Given the description of an element on the screen output the (x, y) to click on. 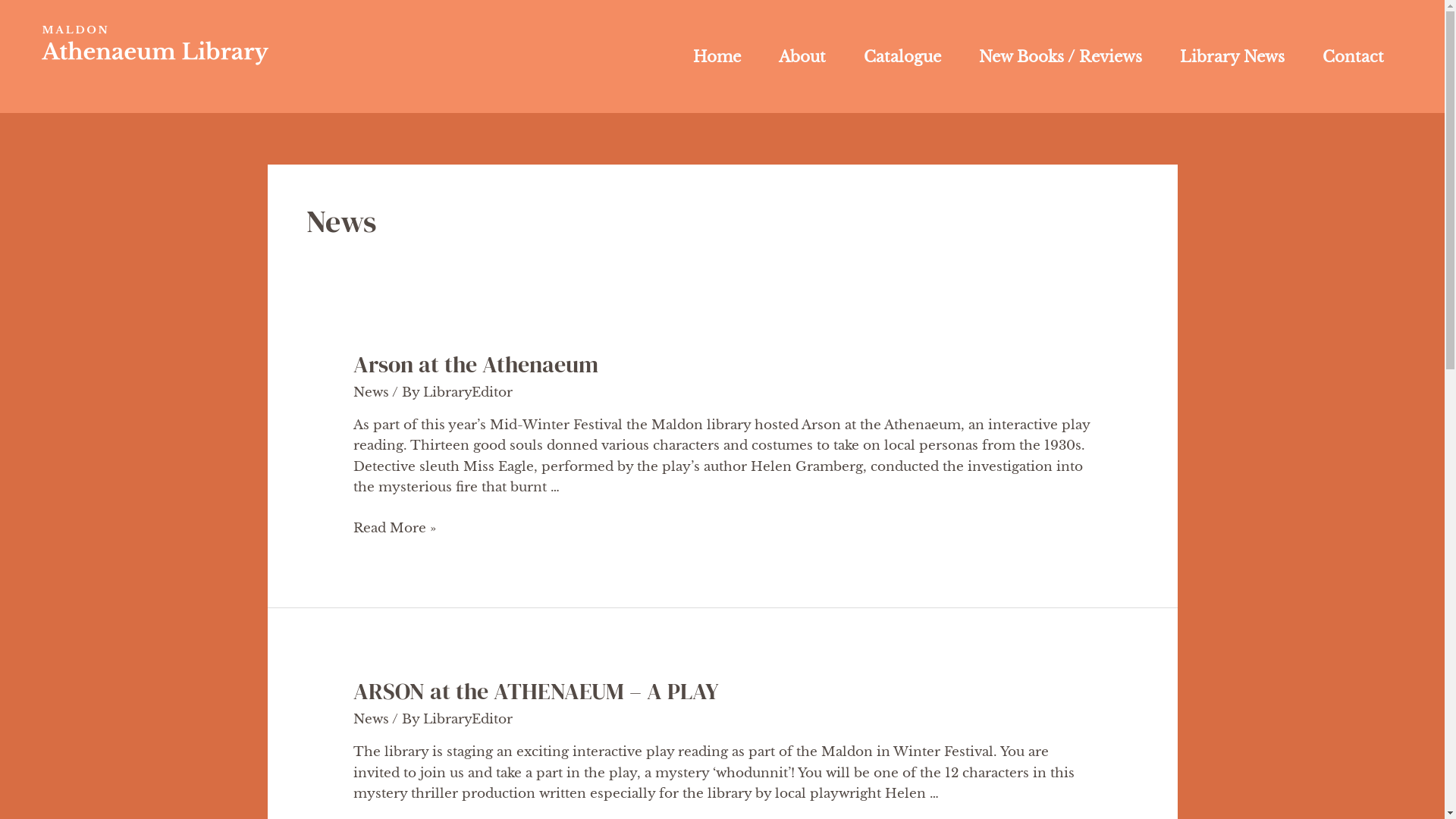
New Books / Reviews Element type: text (1060, 55)
Library News Element type: text (1232, 55)
Catalogue Element type: text (902, 55)
Contact Element type: text (1352, 55)
LibraryEditor Element type: text (467, 719)
Arson at the Athenaeum Element type: text (475, 363)
About Element type: text (801, 55)
Home Element type: text (716, 55)
LibraryEditor Element type: text (467, 392)
News Element type: text (371, 719)
News Element type: text (371, 392)
